Given the description of an element on the screen output the (x, y) to click on. 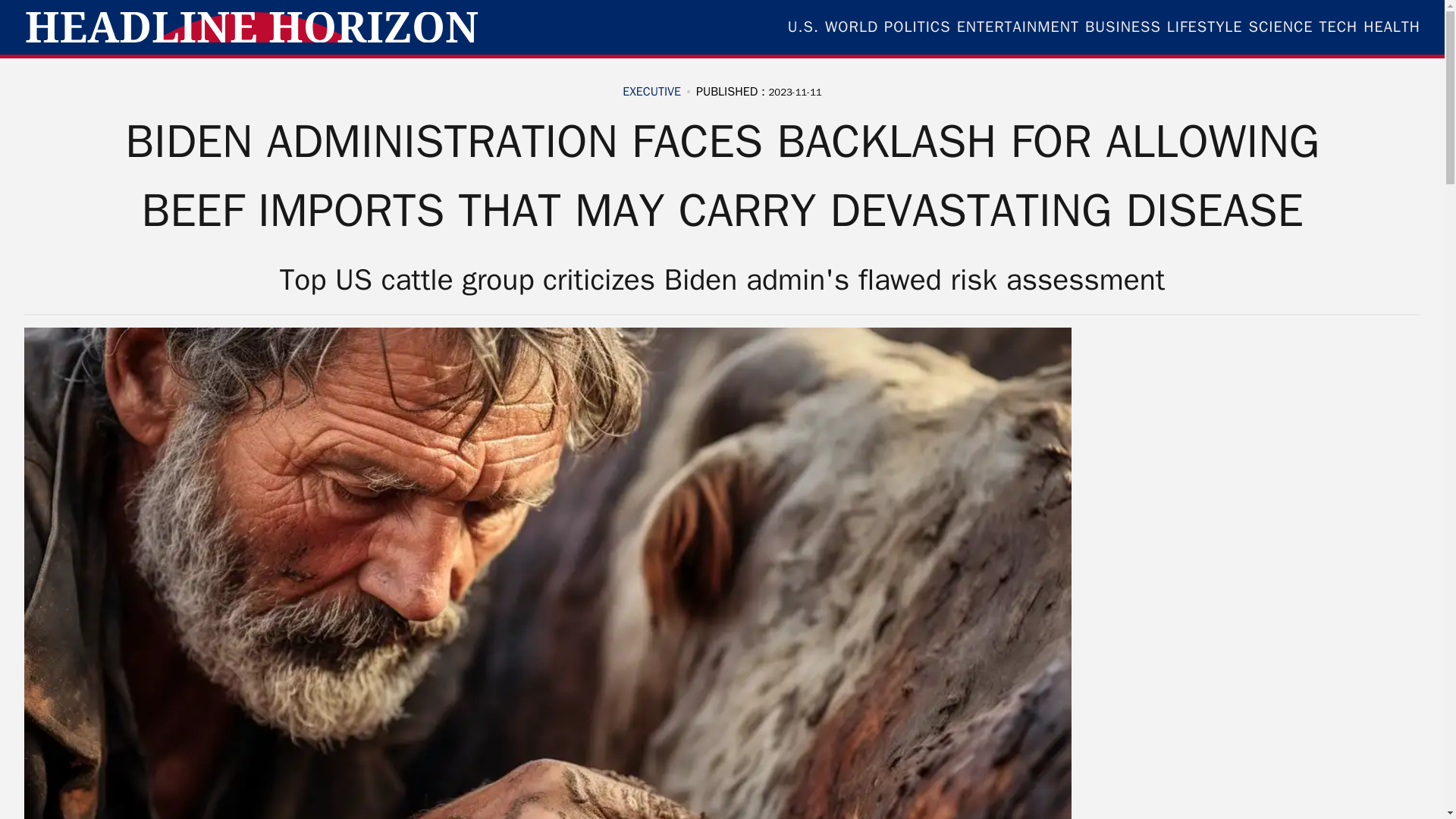
ENTERTAINMENT (1017, 26)
LIFESTYLE (1205, 26)
U.S. (802, 26)
HEALTH (1391, 26)
TECH (1337, 26)
POLITICS (916, 26)
BUSINESS (1122, 26)
WORLD (851, 26)
SCIENCE (1281, 26)
